Given the description of an element on the screen output the (x, y) to click on. 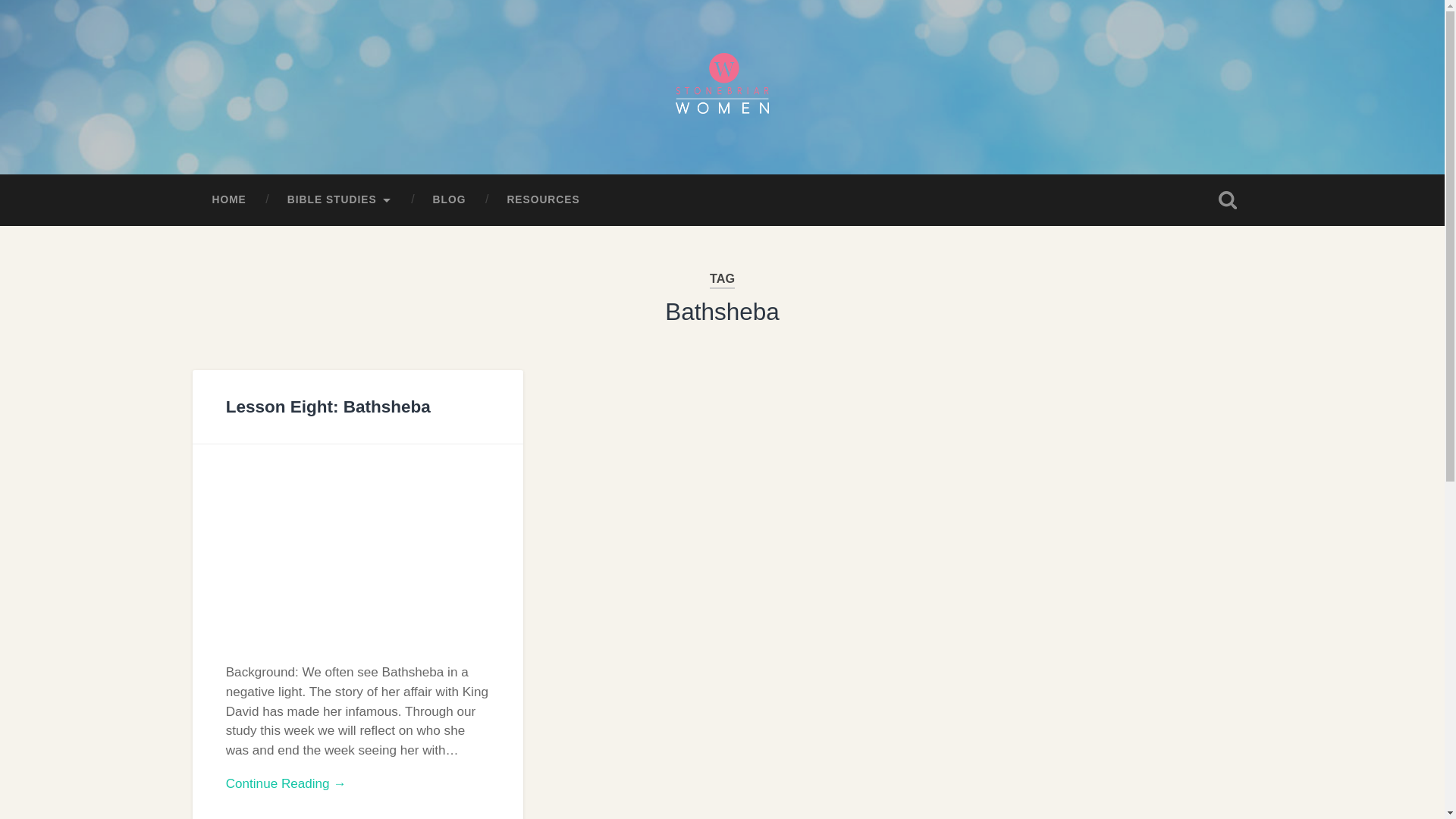
RESOURCES (542, 200)
HOME (228, 200)
BIBLE STUDIES (339, 200)
Lesson Eight: Bathsheba (327, 406)
BLOG (449, 200)
